Given the description of an element on the screen output the (x, y) to click on. 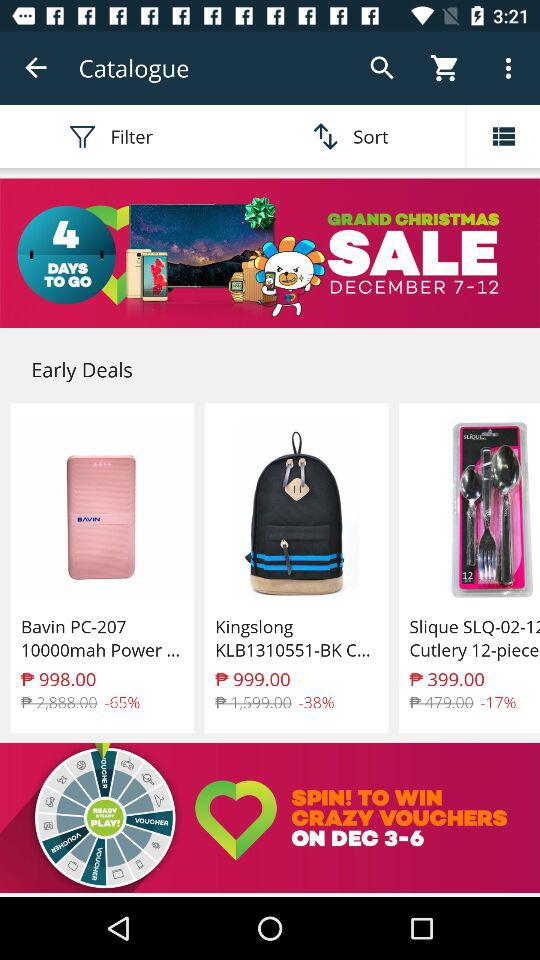
go back (36, 68)
